Given the description of an element on the screen output the (x, y) to click on. 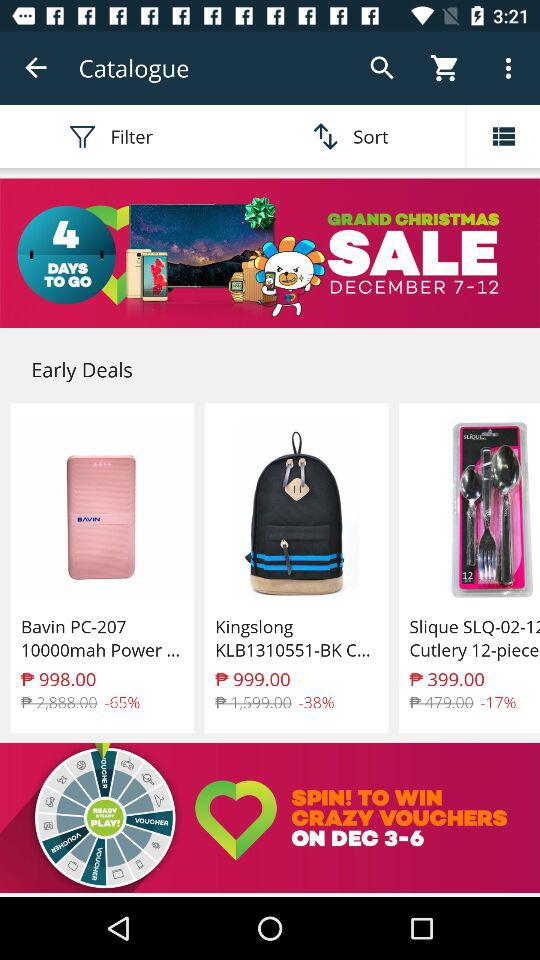
go back (36, 68)
